Given the description of an element on the screen output the (x, y) to click on. 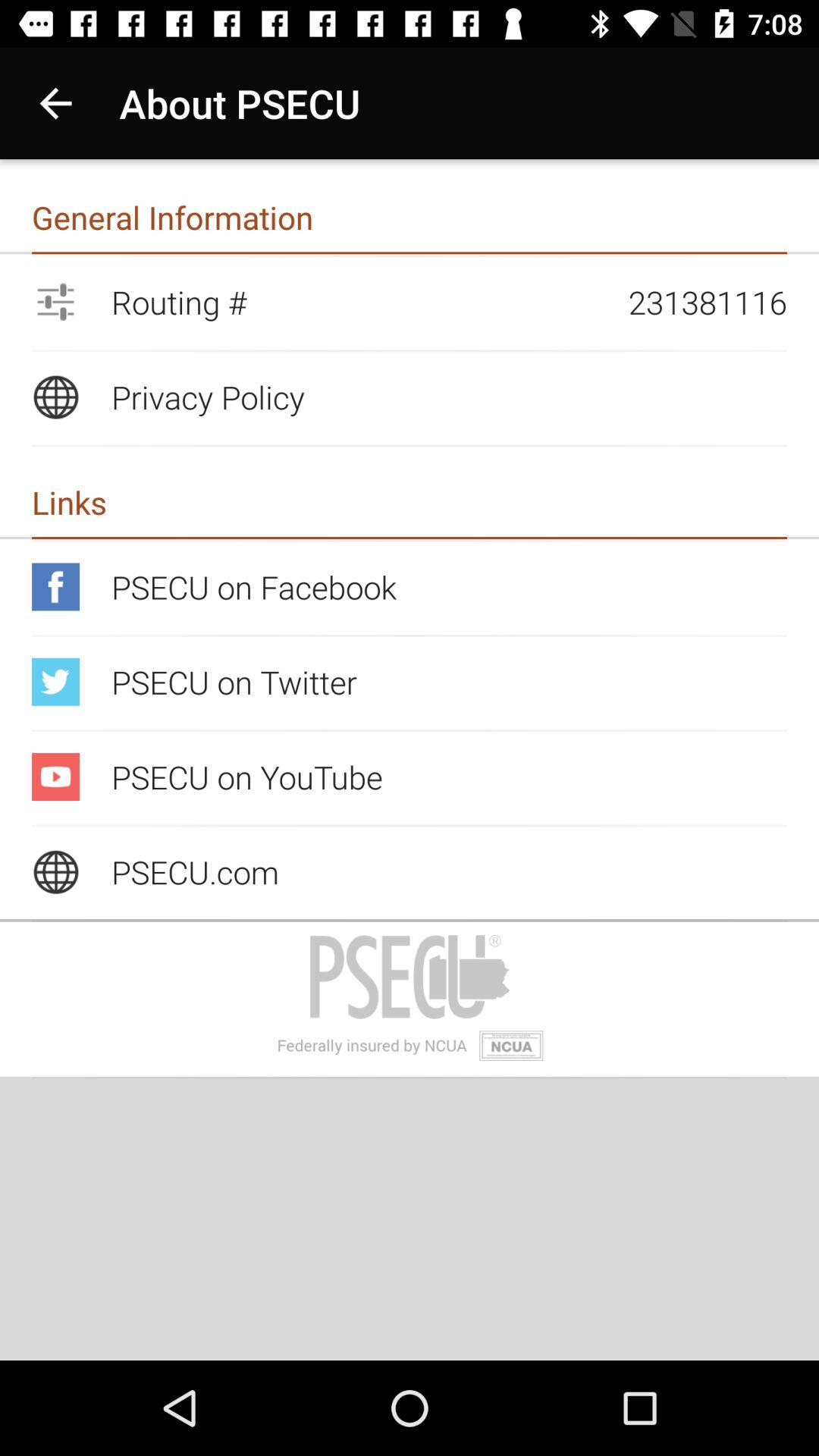
tap icon to the left of about psecu app (55, 103)
